Given the description of an element on the screen output the (x, y) to click on. 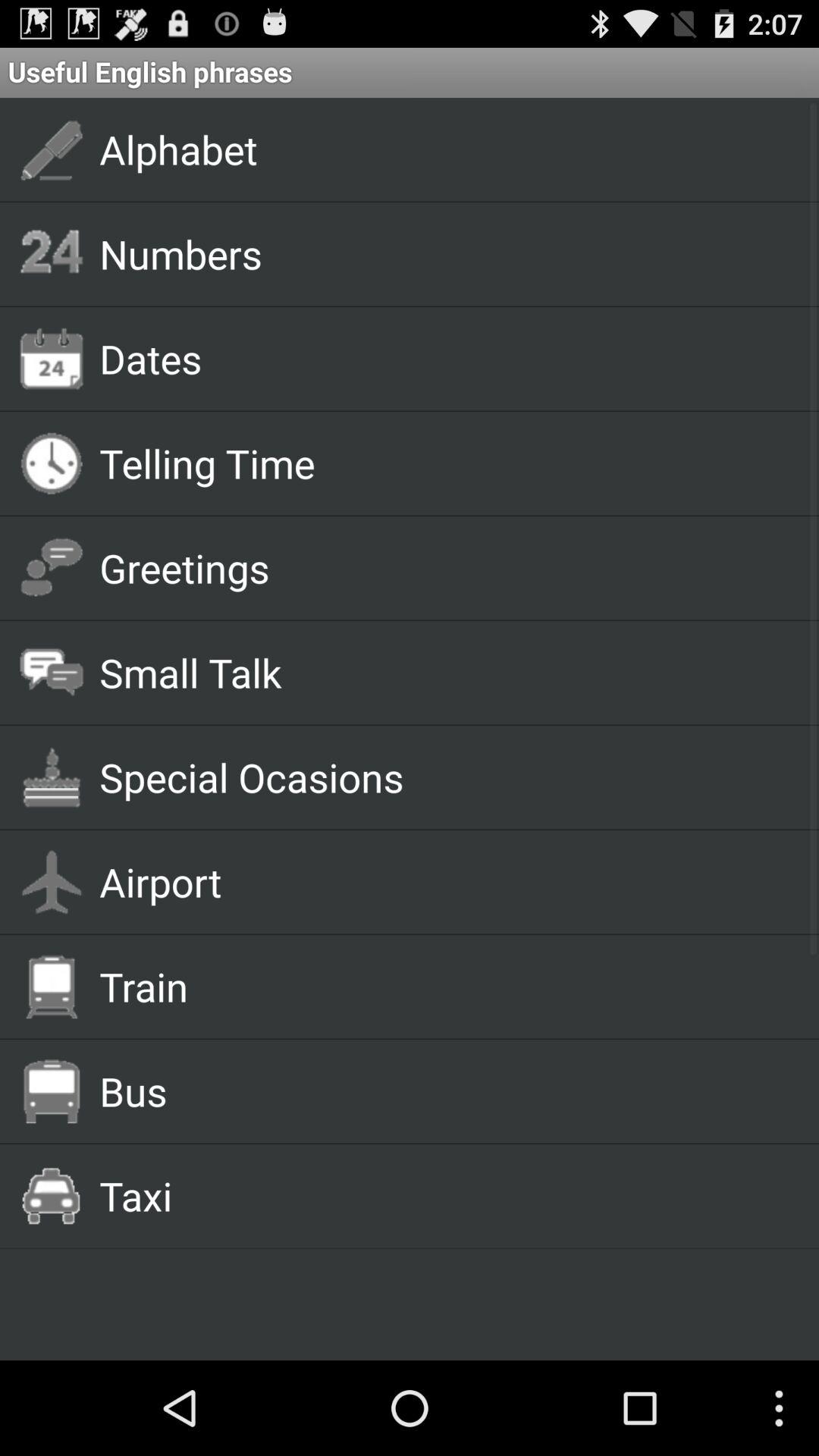
jump to the train item (441, 986)
